Given the description of an element on the screen output the (x, y) to click on. 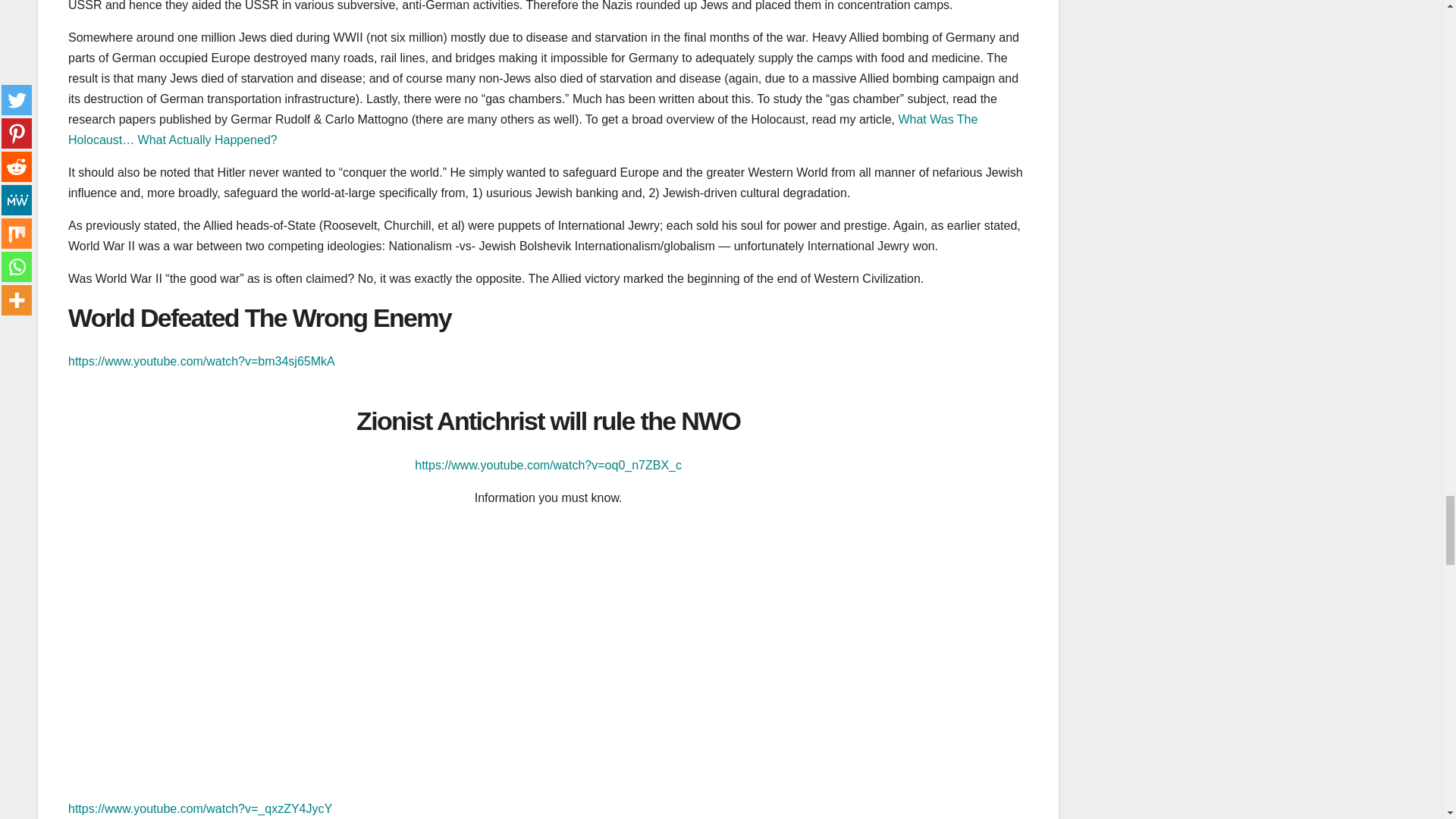
World Defeated The Wrong Enemy (259, 317)
